Given the description of an element on the screen output the (x, y) to click on. 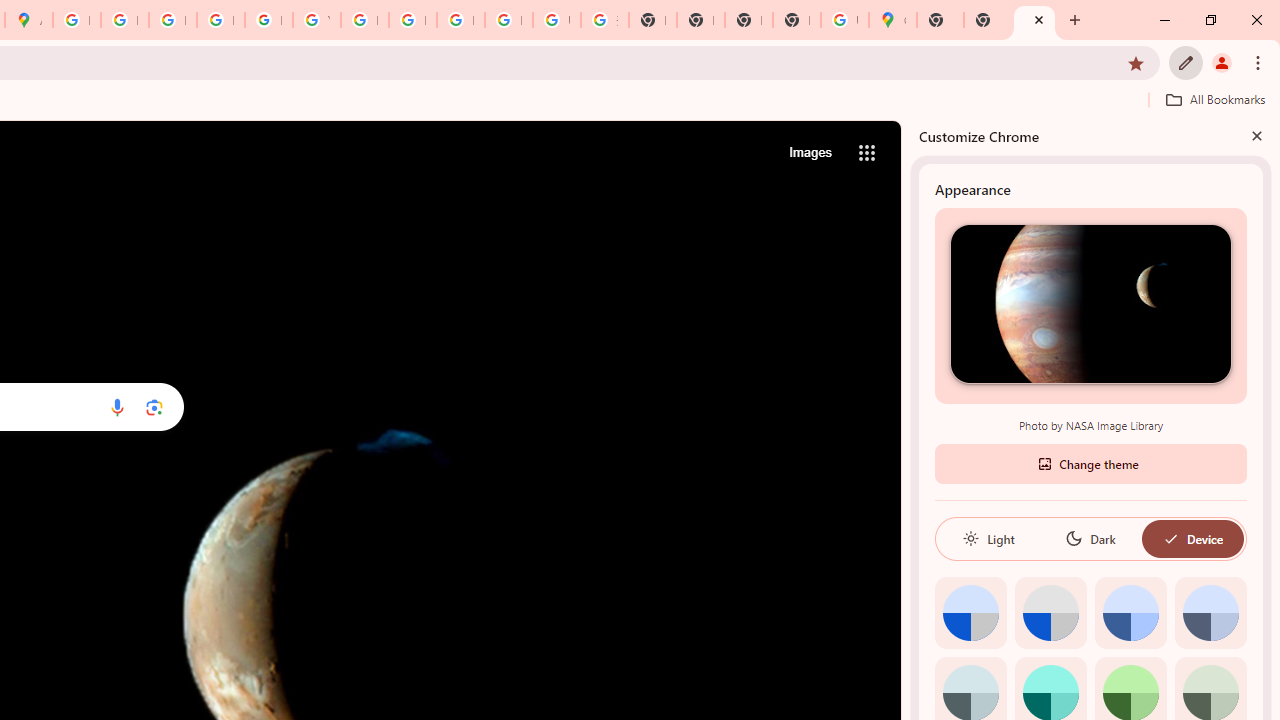
Default color (970, 612)
Light (988, 538)
Privacy Help Center - Policies Help (124, 20)
AutomationID: baseSvg (1170, 538)
Privacy Help Center - Policies Help (172, 20)
Dark (1090, 538)
